Given the description of an element on the screen output the (x, y) to click on. 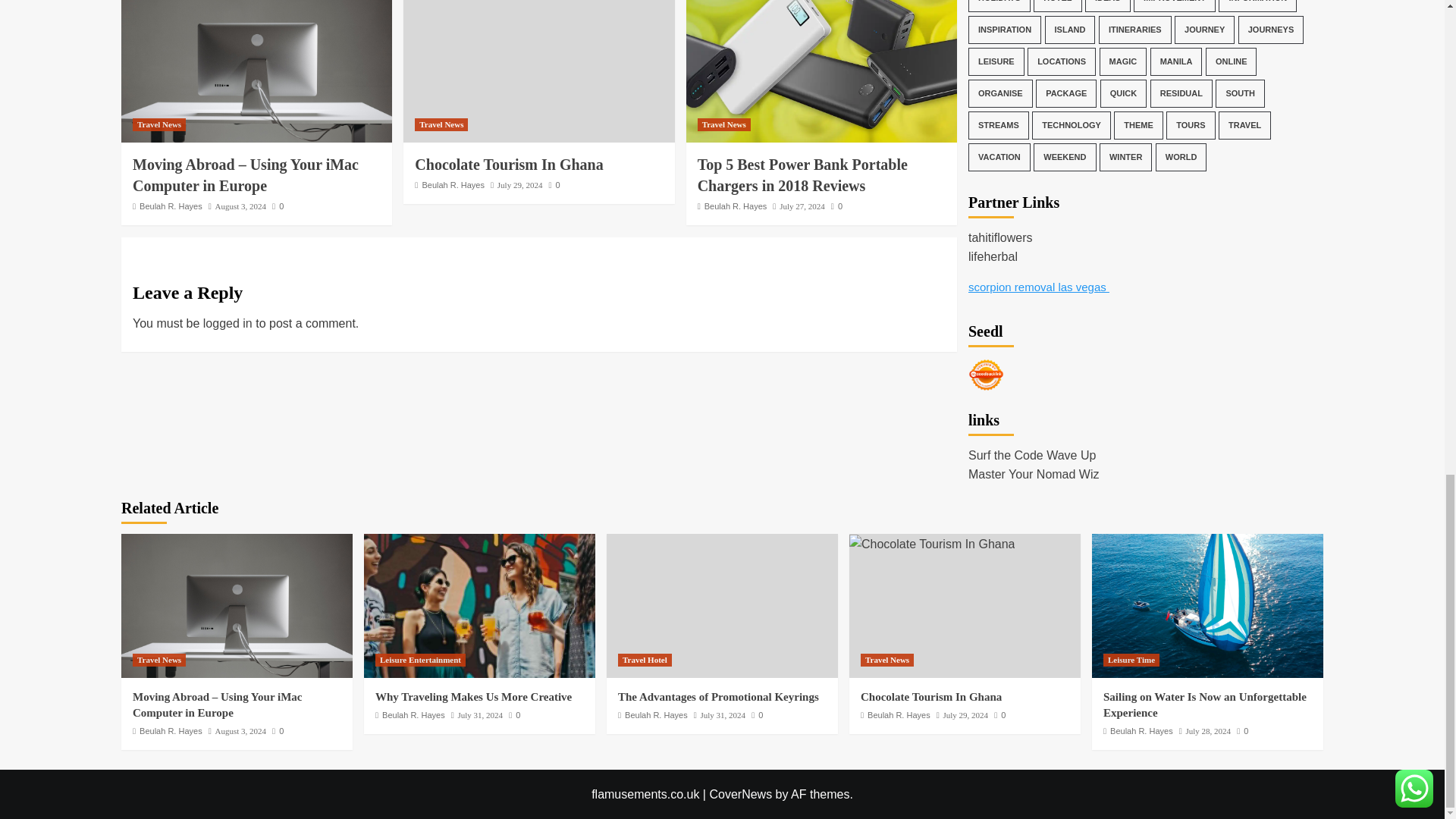
August 3, 2024 (240, 205)
Beulah R. Hayes (170, 205)
Top 5 Best Power Bank Portable Chargers in 2018 Reviews (820, 71)
Travel News (440, 124)
Travel News (159, 124)
Chocolate Tourism In Ghana (508, 164)
Seedbacklink (986, 375)
Why Traveling Makes Us More Creative (479, 605)
Beulah R. Hayes (453, 184)
0 (277, 205)
